Given the description of an element on the screen output the (x, y) to click on. 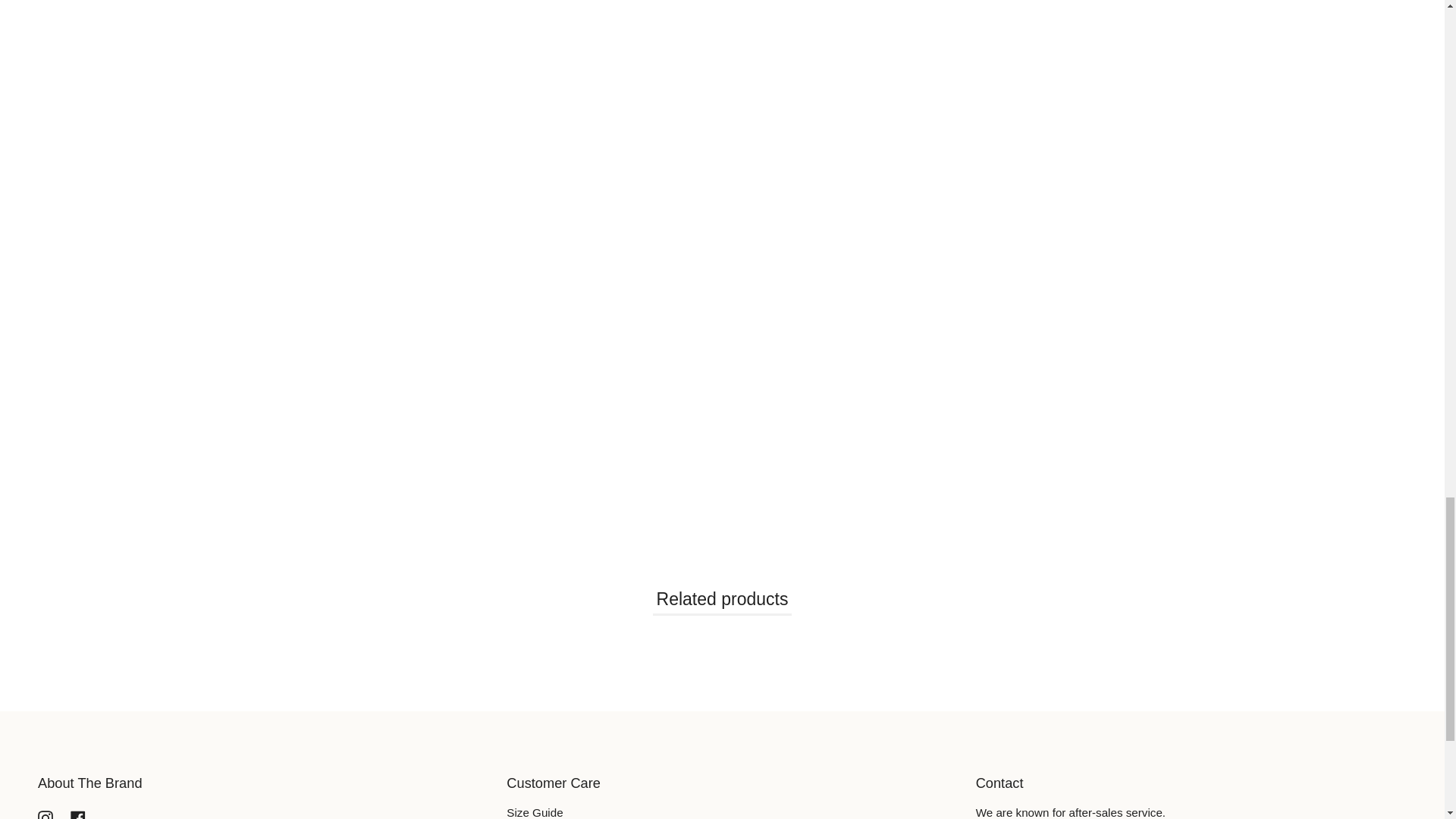
tresorjewelspk on Instagram (44, 814)
tresorjewelspk on Facebook (77, 814)
